Given the description of an element on the screen output the (x, y) to click on. 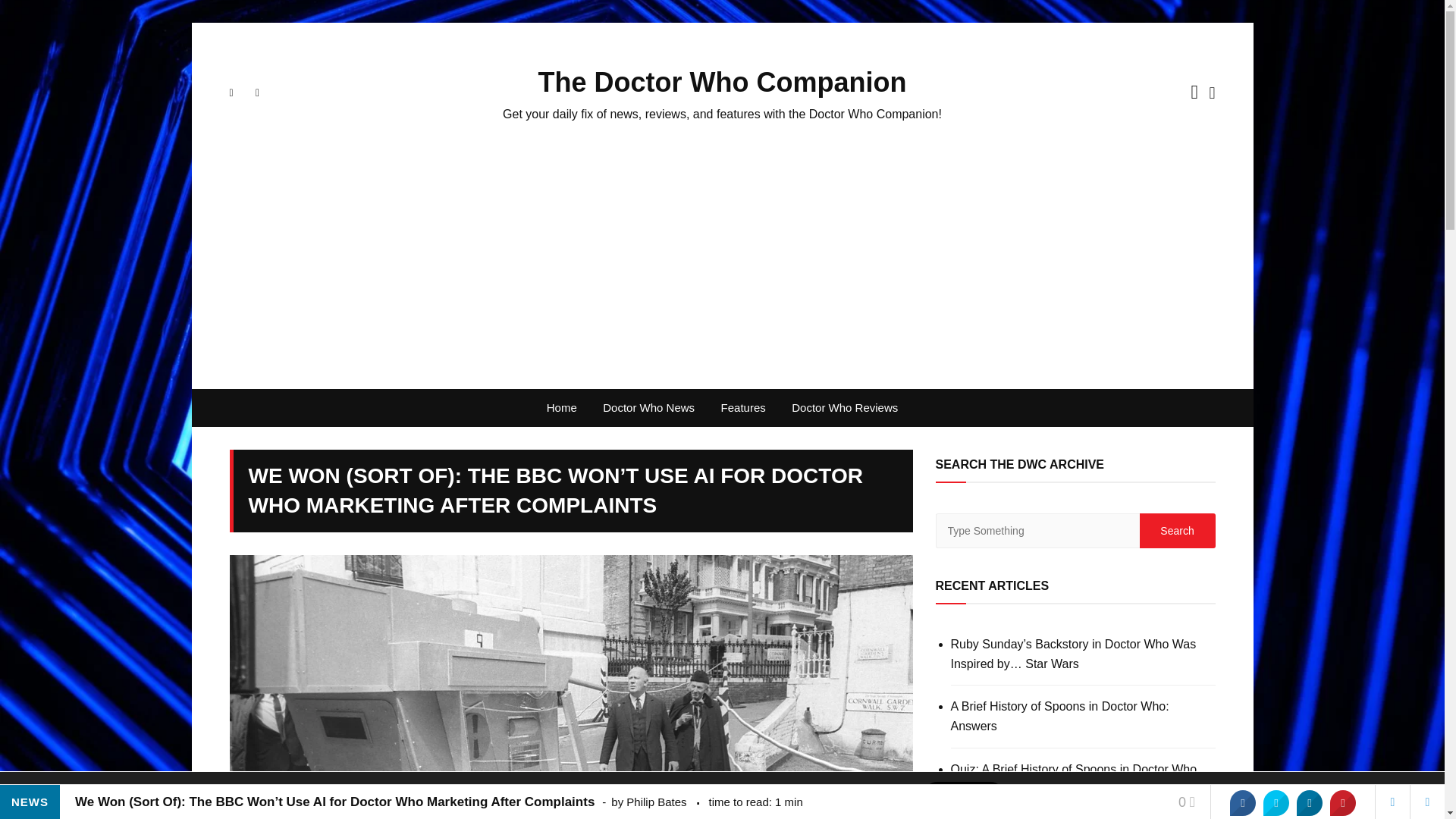
The Doctor Who Companion (722, 81)
Doctor Who News (648, 407)
Features (743, 407)
Home (561, 407)
Doctor Who Reviews (844, 407)
Search (1176, 530)
